Given the description of an element on the screen output the (x, y) to click on. 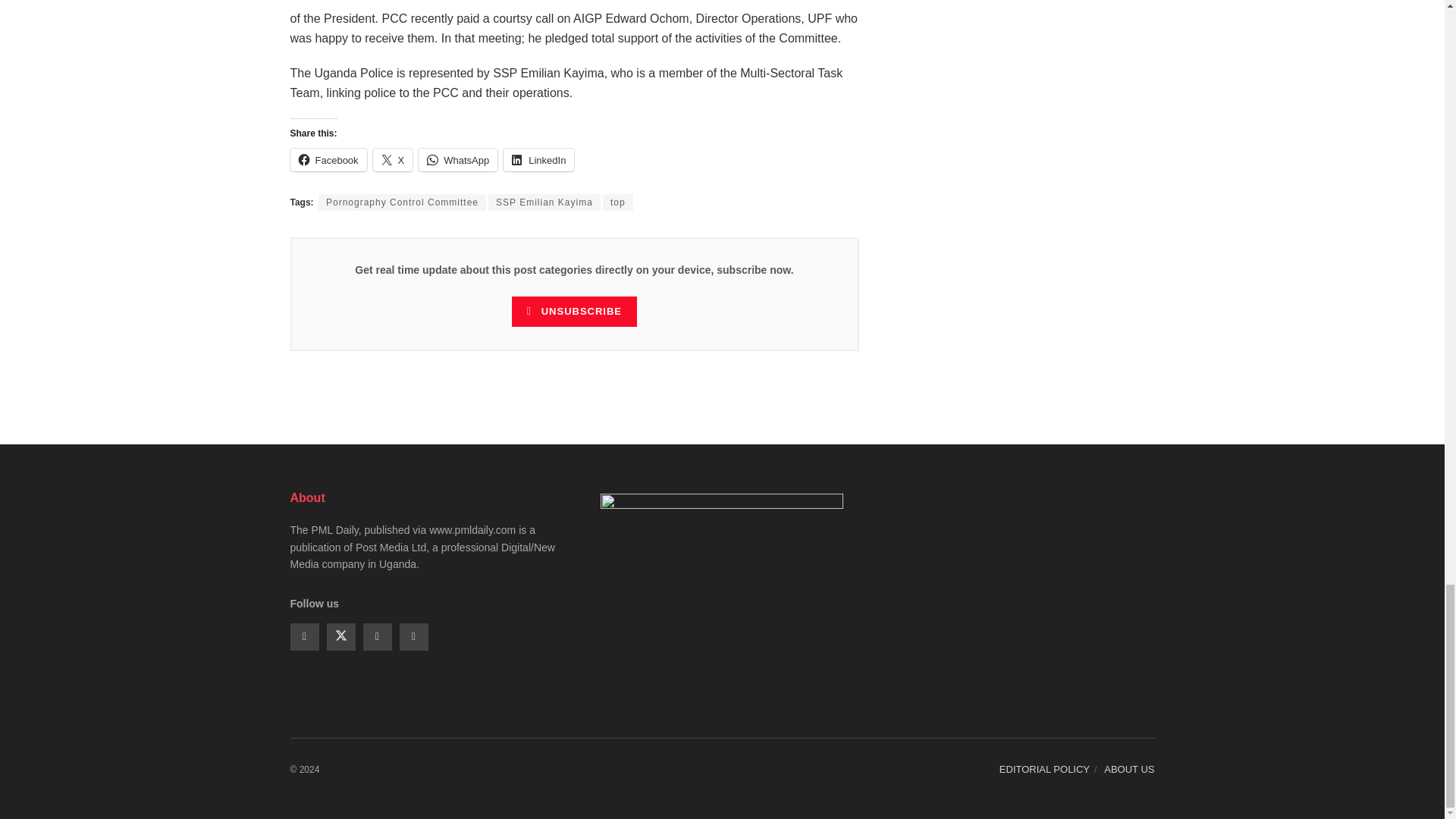
Click to share on WhatsApp (458, 159)
Click to share on X (392, 159)
Click to share on LinkedIn (538, 159)
Click to share on Facebook (327, 159)
